Given the description of an element on the screen output the (x, y) to click on. 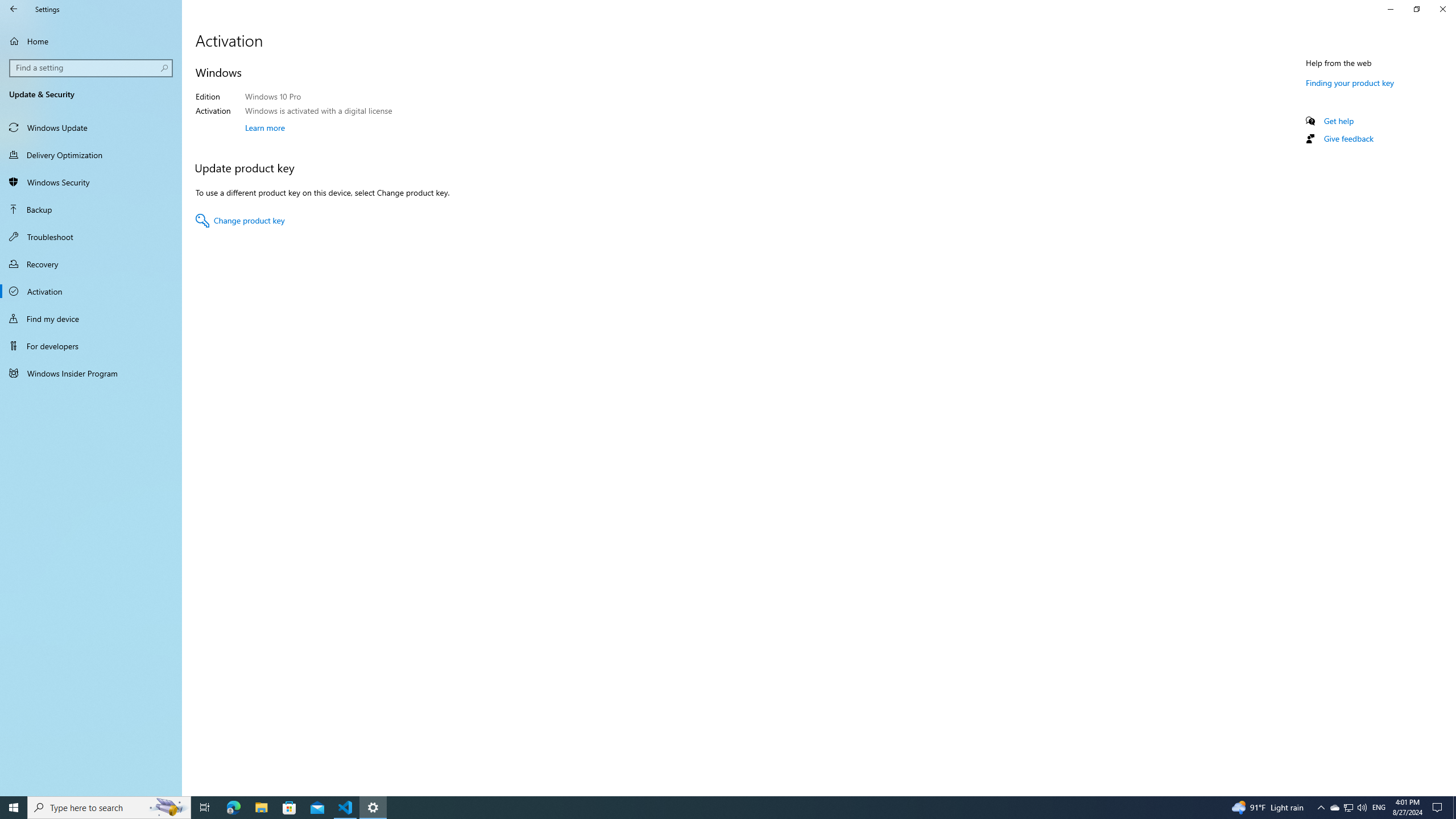
Search box, Find a setting (91, 67)
Delivery Optimization (91, 154)
Activation (91, 290)
Change product key (240, 220)
Recovery (91, 263)
Learn more about Windows activation (264, 127)
Give feedback (1348, 138)
